Given the description of an element on the screen output the (x, y) to click on. 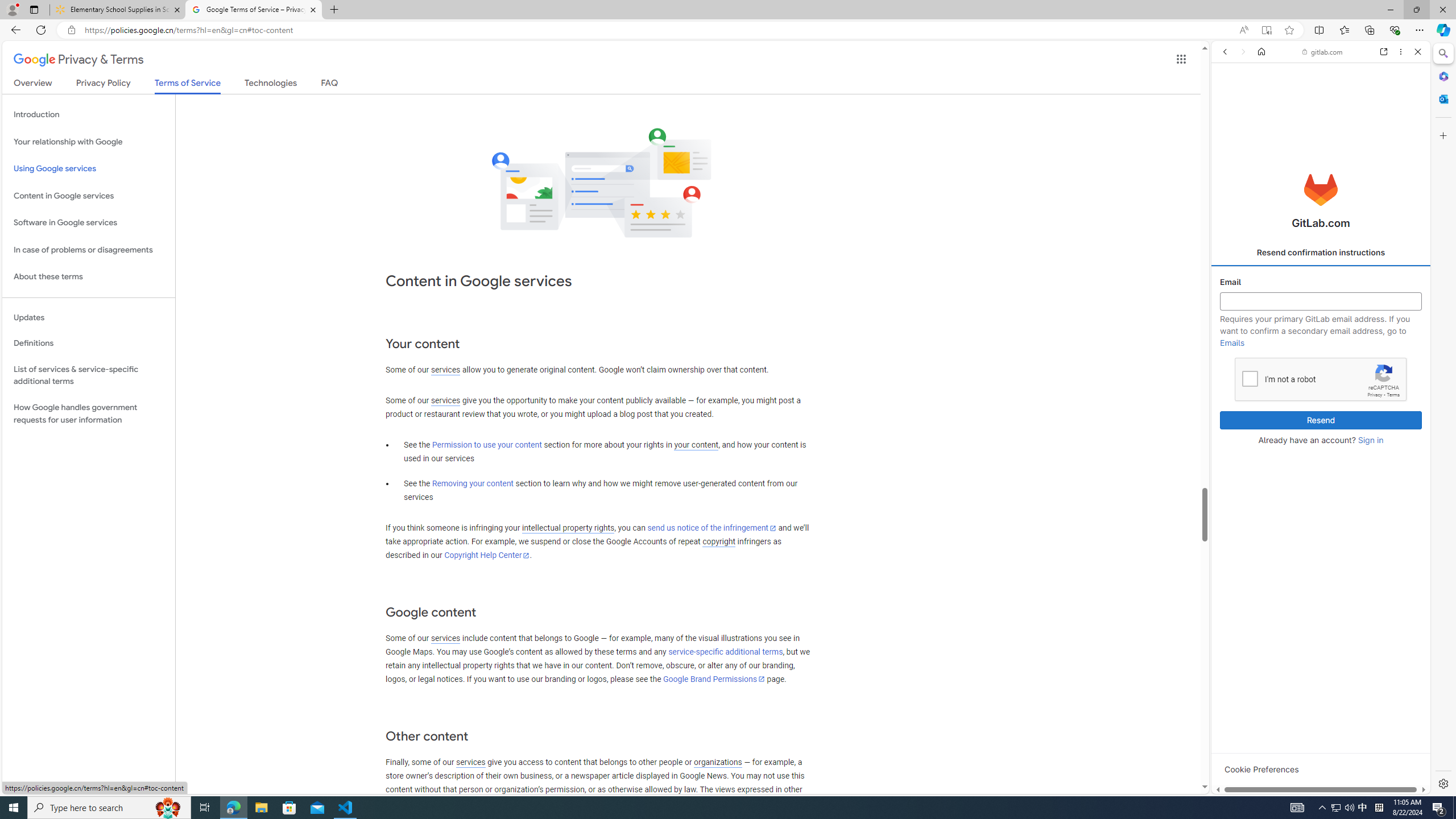
About GitLab (1320, 337)
View details (1379, 554)
Web scope (1230, 102)
GitLab.com (1321, 189)
I'm not a robot (1249, 378)
Search Filter, IMAGES (1260, 129)
Refresh (40, 29)
Resend confirmation instructions (1321, 252)
Collections (1369, 29)
Read aloud this page (Ctrl+Shift+U) (1243, 29)
Email (1321, 301)
Dashboard (1320, 365)
Outlook (1442, 98)
